Given the description of an element on the screen output the (x, y) to click on. 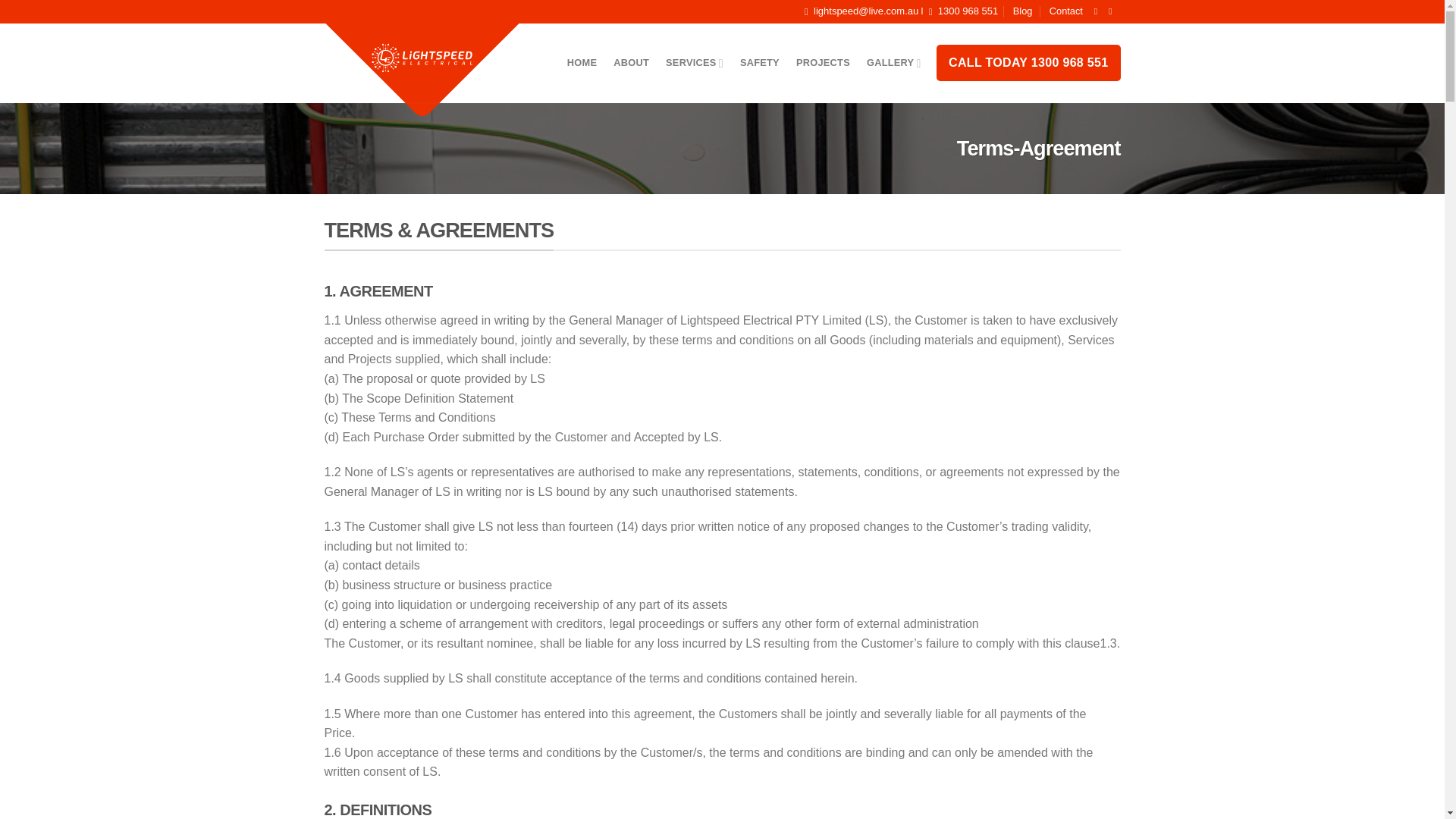
HOME (959, 11)
Contact (581, 62)
CALL TODAY 1300 968 551 (1066, 11)
GALLERY (1027, 63)
SERVICES (893, 62)
ABOUT (694, 62)
SAFETY (630, 62)
PROJECTS (758, 62)
